Given the description of an element on the screen output the (x, y) to click on. 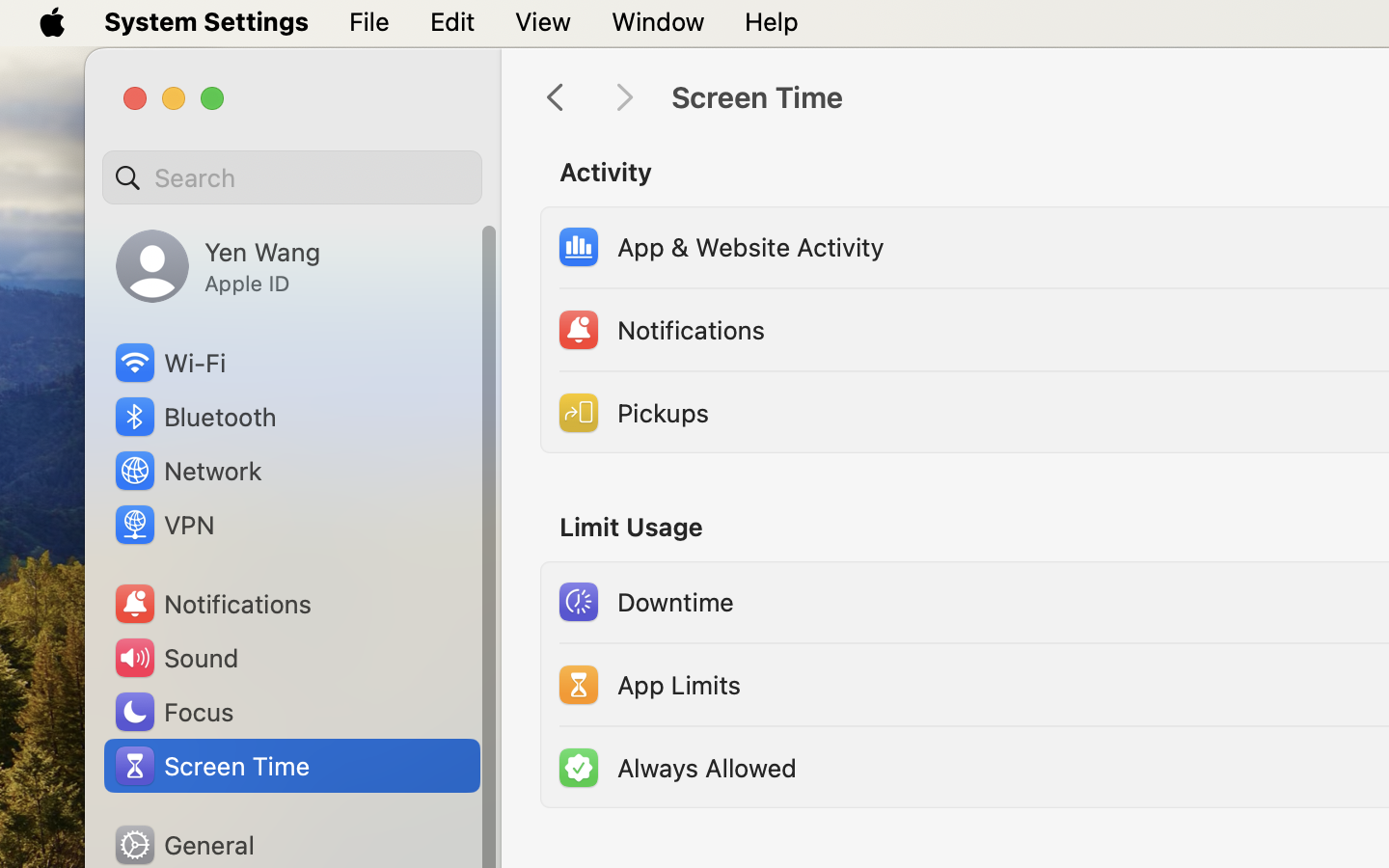
Notifications Element type: AXStaticText (211, 603)
Sound Element type: AXStaticText (175, 657)
General Element type: AXStaticText (182, 844)
Screen Time Element type: AXStaticText (210, 765)
Focus Element type: AXStaticText (172, 711)
